Given the description of an element on the screen output the (x, y) to click on. 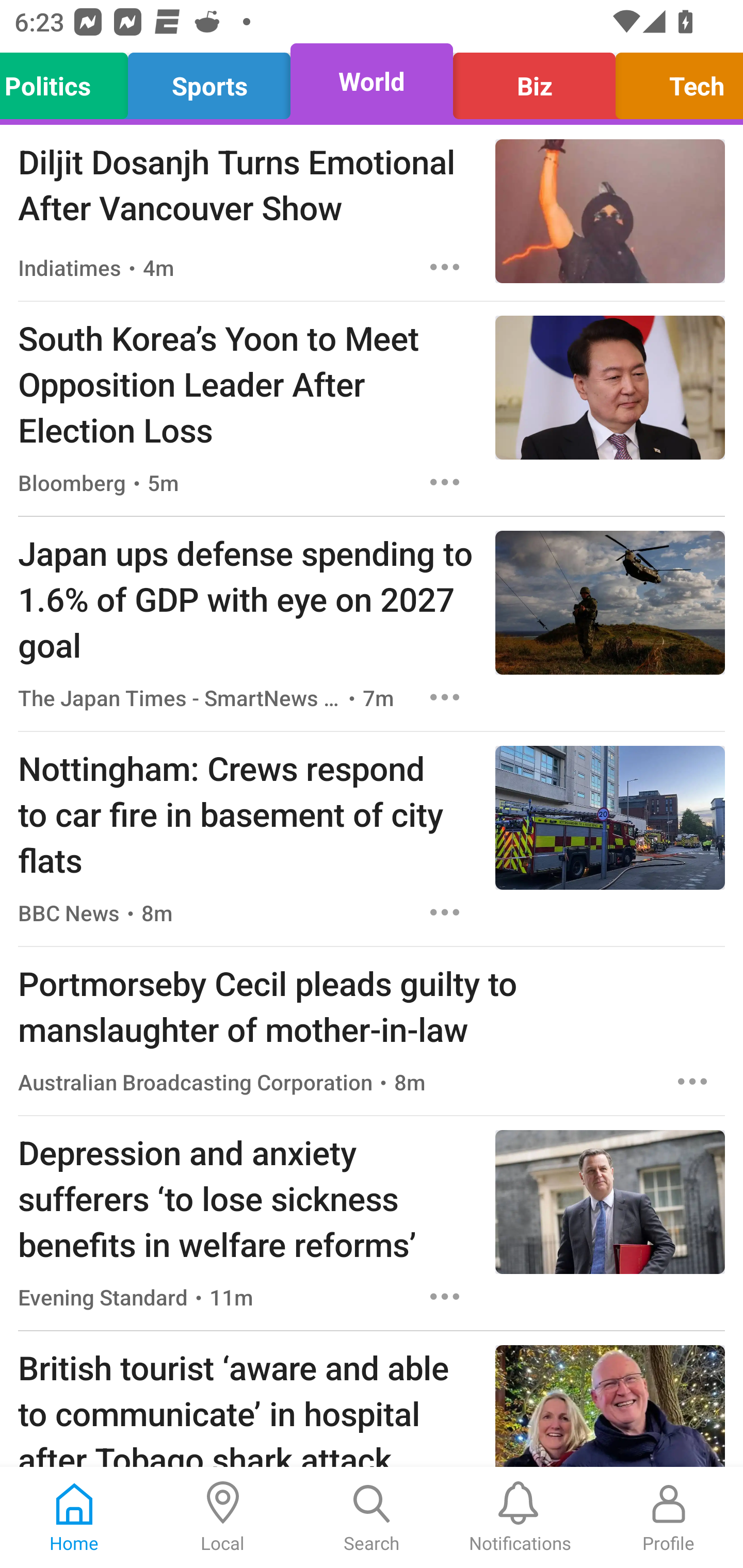
Politics (69, 81)
Sports (209, 81)
World (371, 81)
Biz (534, 81)
Tech (673, 81)
Options (444, 267)
Options (444, 481)
Options (444, 697)
Options (444, 912)
Options (692, 1081)
Options (444, 1296)
Local (222, 1517)
Search (371, 1517)
Notifications (519, 1517)
Profile (668, 1517)
